Given the description of an element on the screen output the (x, y) to click on. 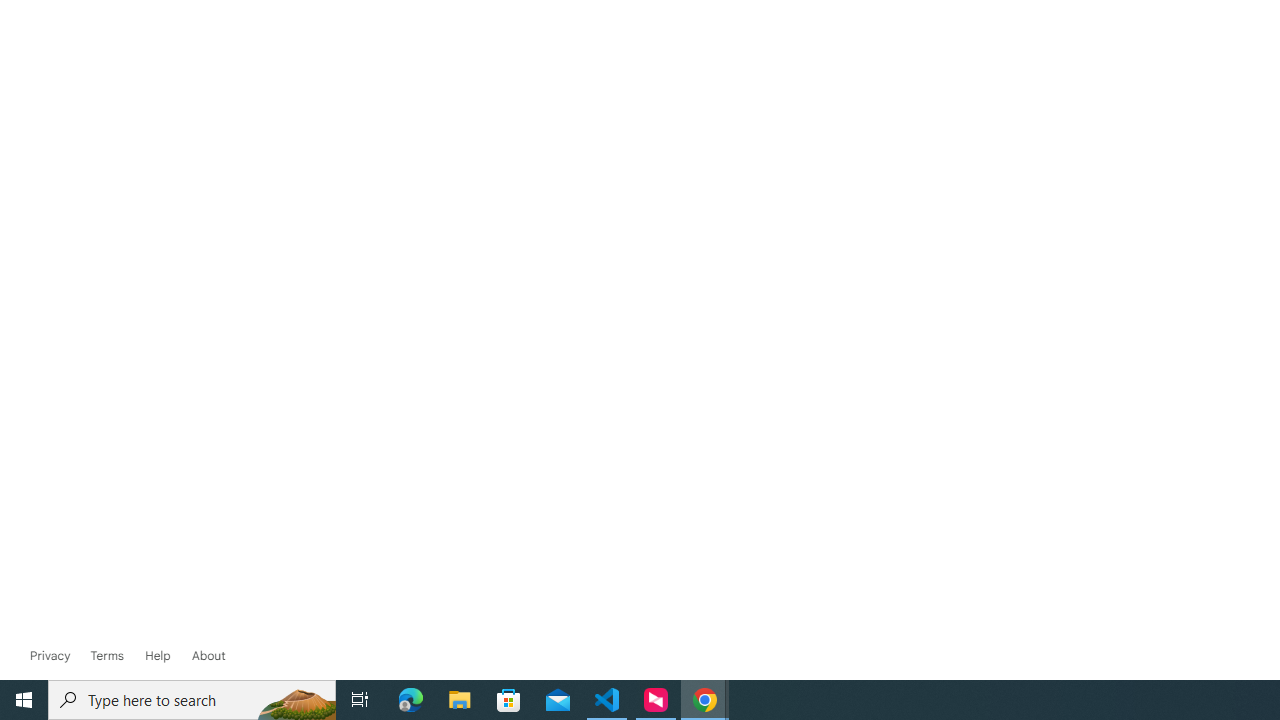
Learn more about Google Account (208, 655)
